Given the description of an element on the screen output the (x, y) to click on. 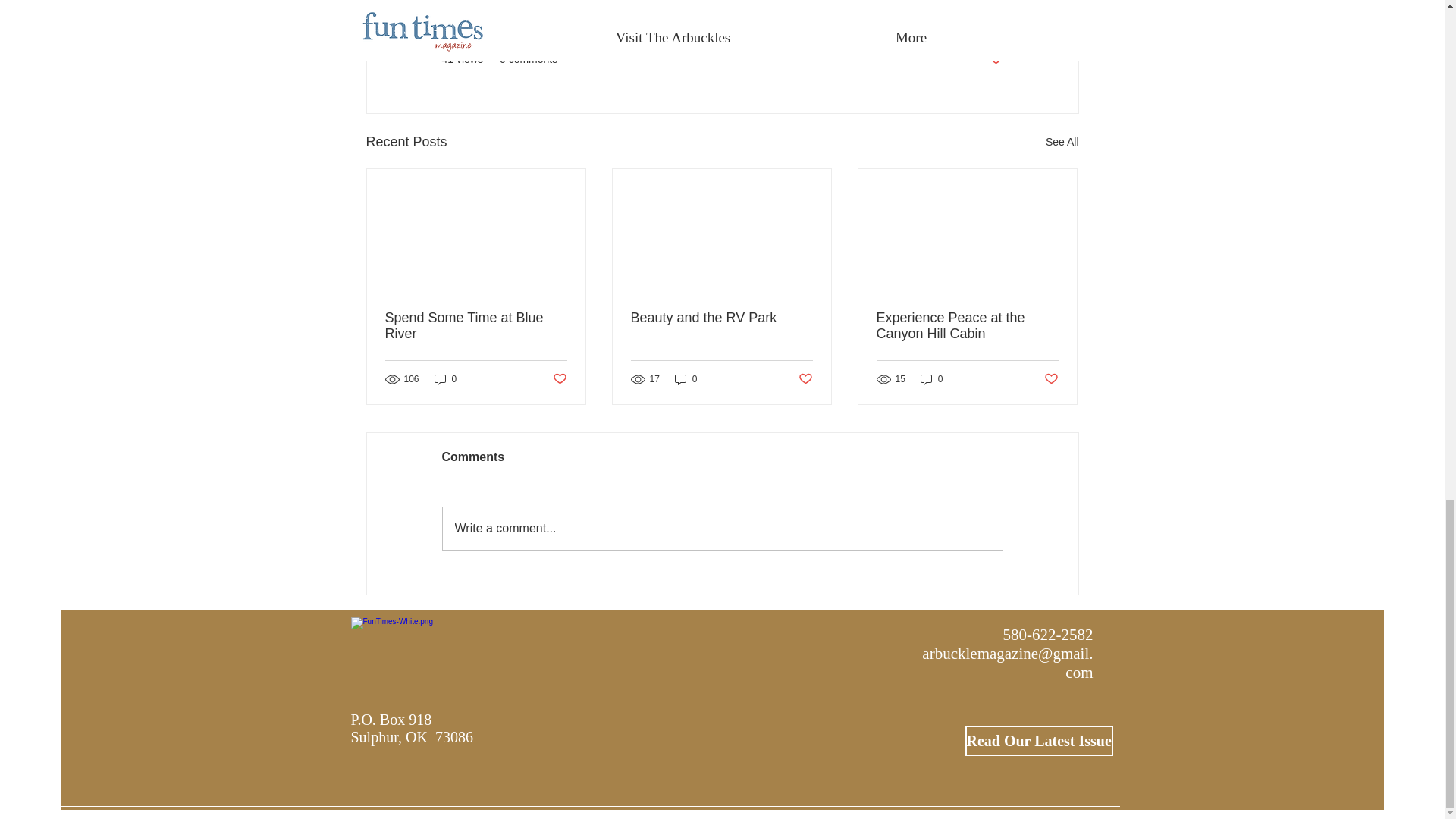
0 (931, 379)
Post not marked as liked (995, 59)
Write a comment... (722, 527)
Experience Peace at the Canyon Hill Cabin (967, 326)
See All (1061, 142)
Post not marked as liked (558, 379)
Post not marked as liked (804, 379)
Read Our Latest Issue (1037, 740)
Beauty and the RV Park (721, 317)
Post not marked as liked (1050, 379)
0 (445, 379)
Spend Some Time at Blue River (476, 326)
0 (685, 379)
